Given the description of an element on the screen output the (x, y) to click on. 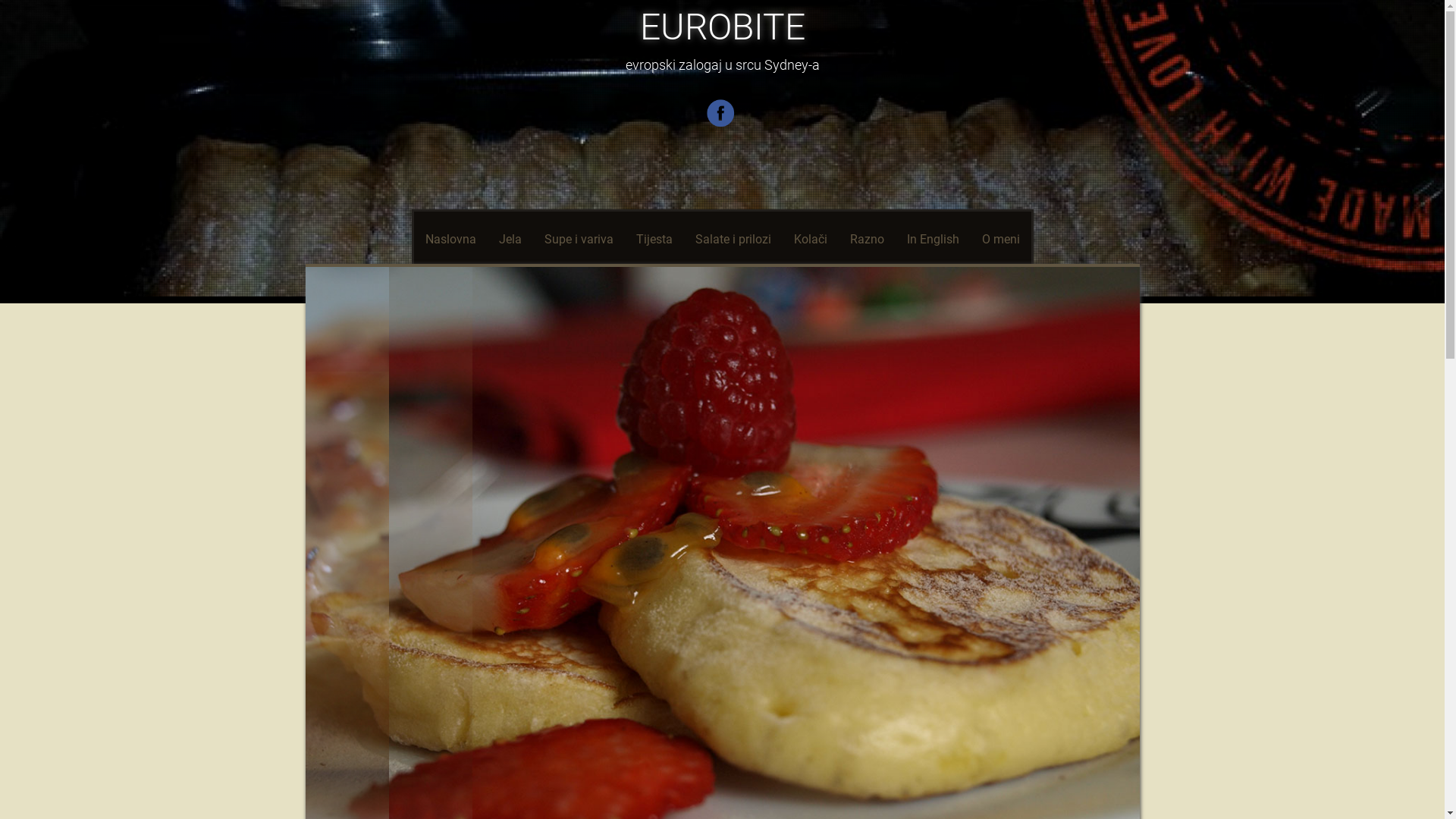
Razno Element type: text (866, 239)
Tijesta Element type: text (654, 239)
Supe i variva Element type: text (578, 239)
O meni Element type: text (1000, 239)
Skip to content Element type: text (465, 239)
In English Element type: text (931, 239)
Salate i prilozi Element type: text (733, 239)
Jela Element type: text (509, 239)
EUROBITE Element type: text (722, 26)
Naslovna Element type: text (450, 239)
Facebook Element type: hover (722, 123)
